Given the description of an element on the screen output the (x, y) to click on. 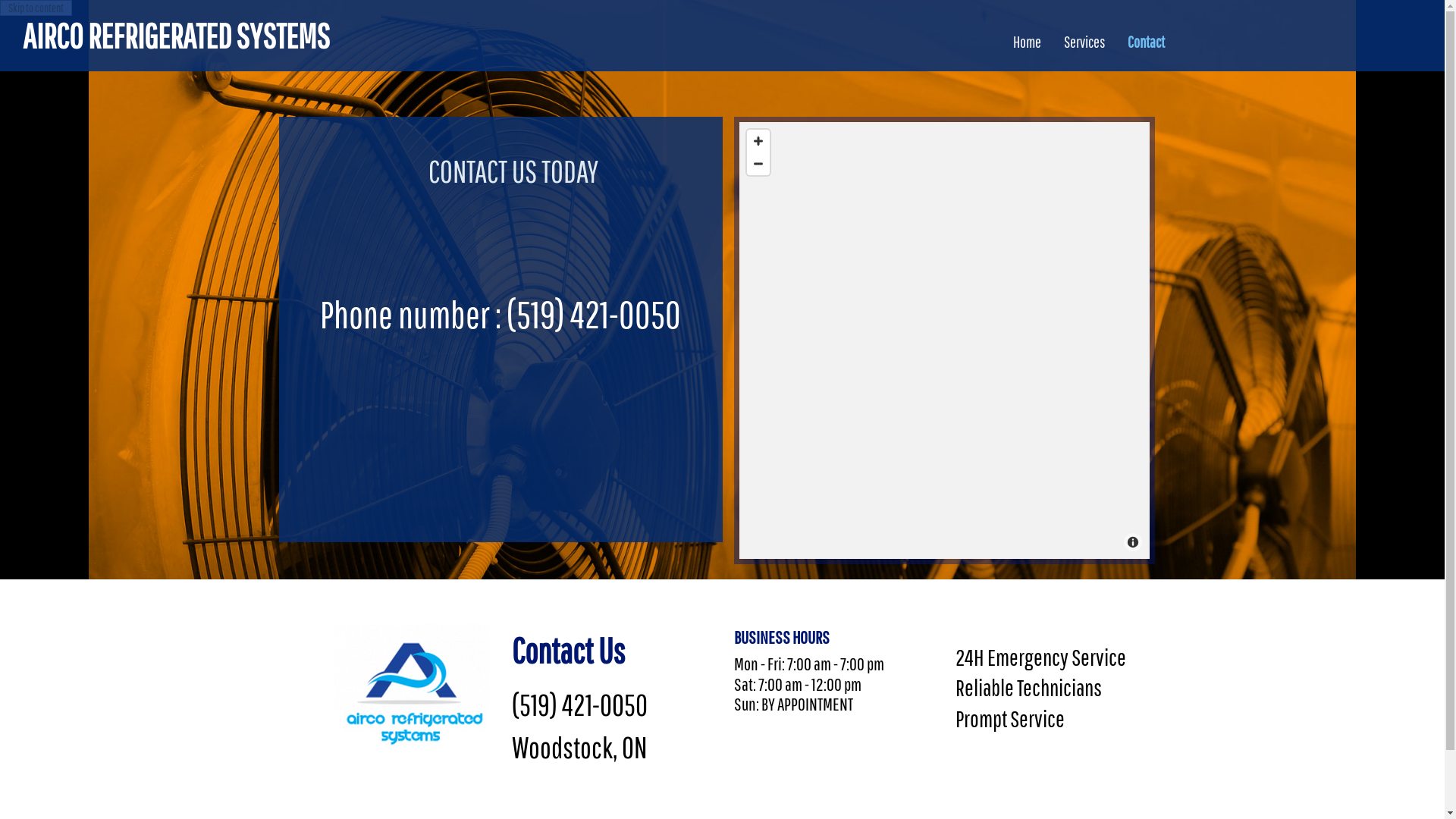
Contact Element type: text (1145, 34)
Services Element type: text (1083, 34)
AIRCO REFRIGERATED SYSTEMS Element type: text (175, 35)
Home Element type: text (1027, 34)
